Given the description of an element on the screen output the (x, y) to click on. 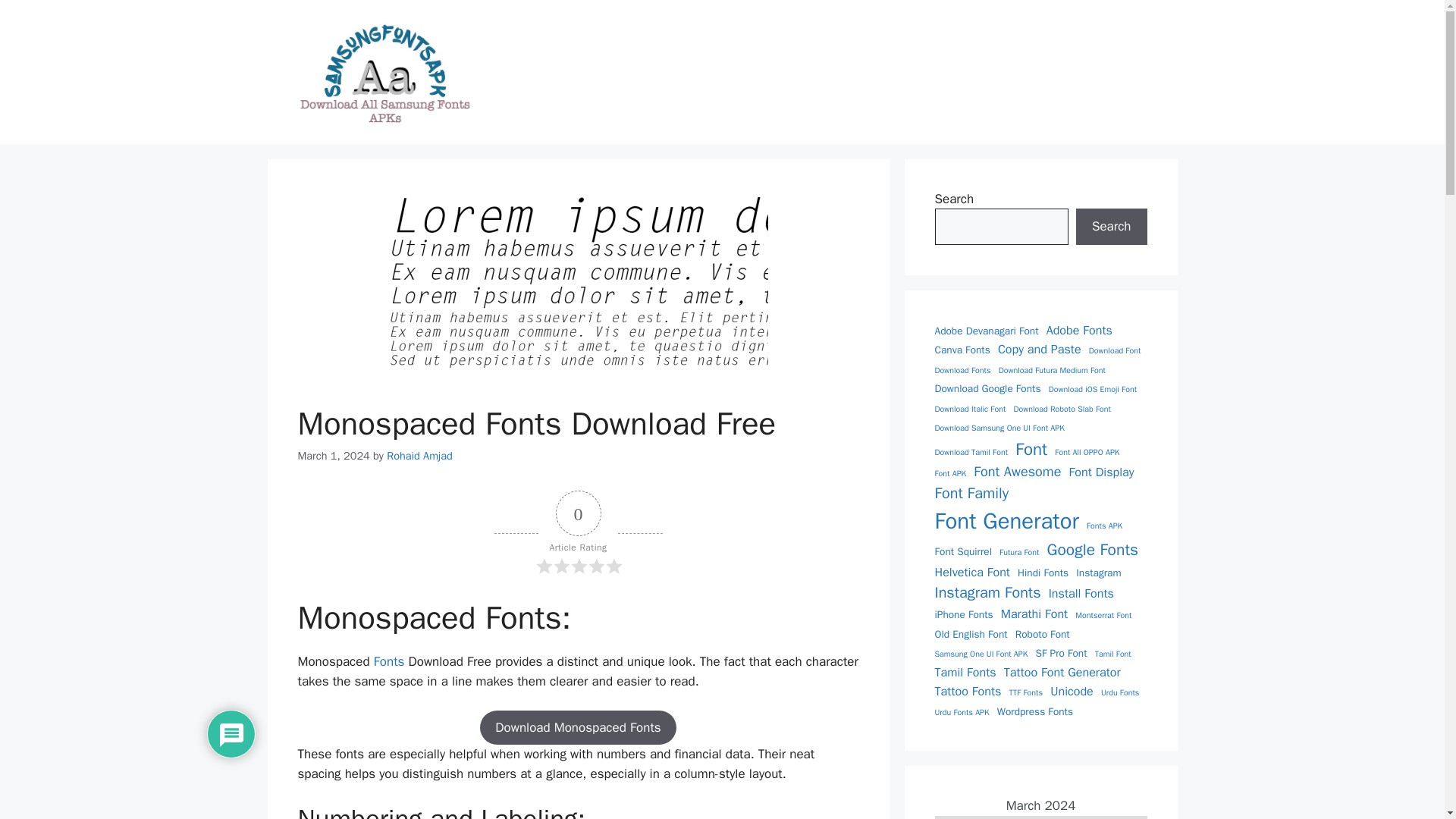
Download Monospaced Fonts (577, 727)
Fonts (391, 661)
Rohaid Amjad (419, 455)
View all posts by Rohaid Amjad (419, 455)
